Given the description of an element on the screen output the (x, y) to click on. 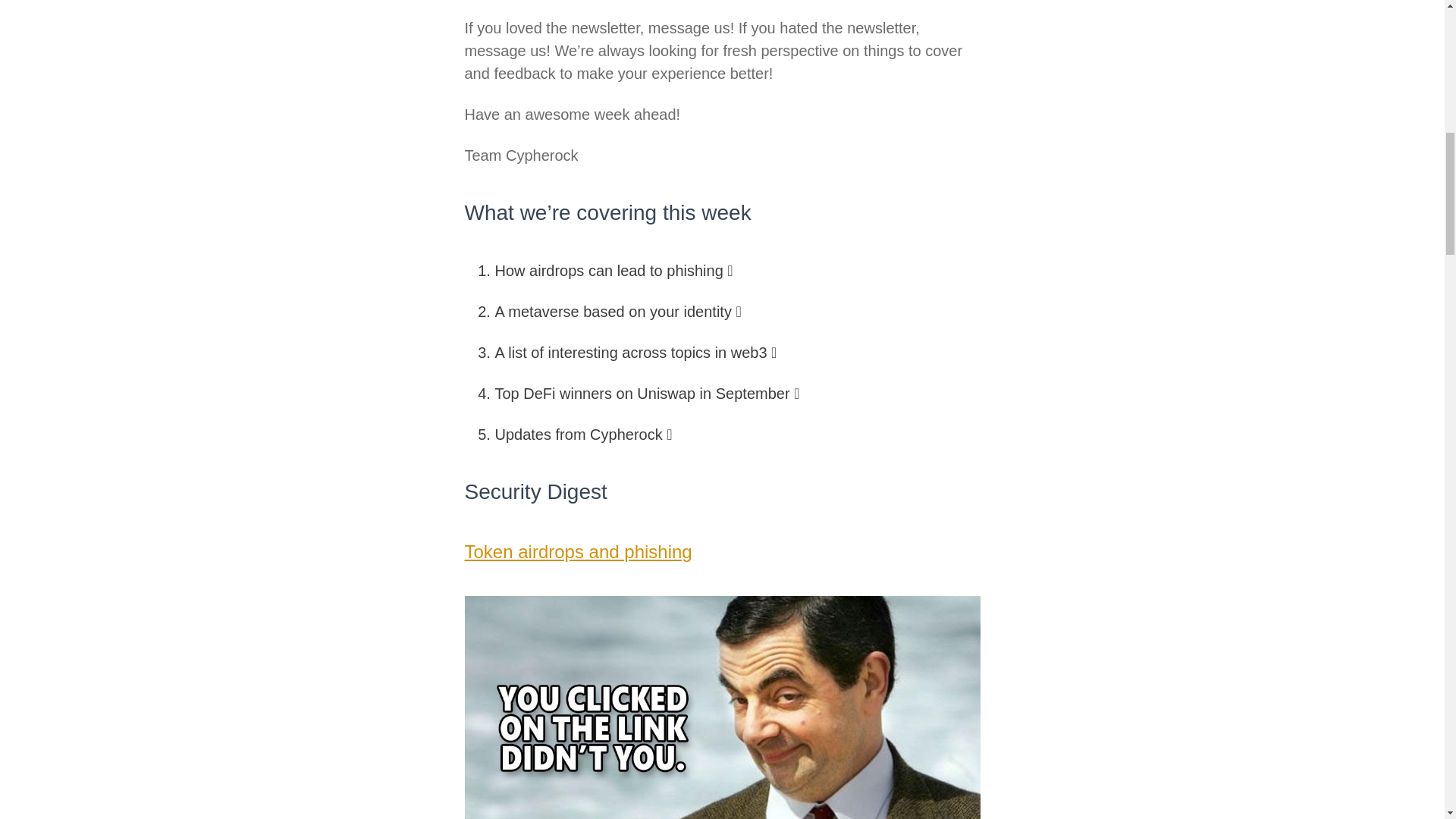
Token airdrops and phishing (577, 551)
